Given the description of an element on the screen output the (x, y) to click on. 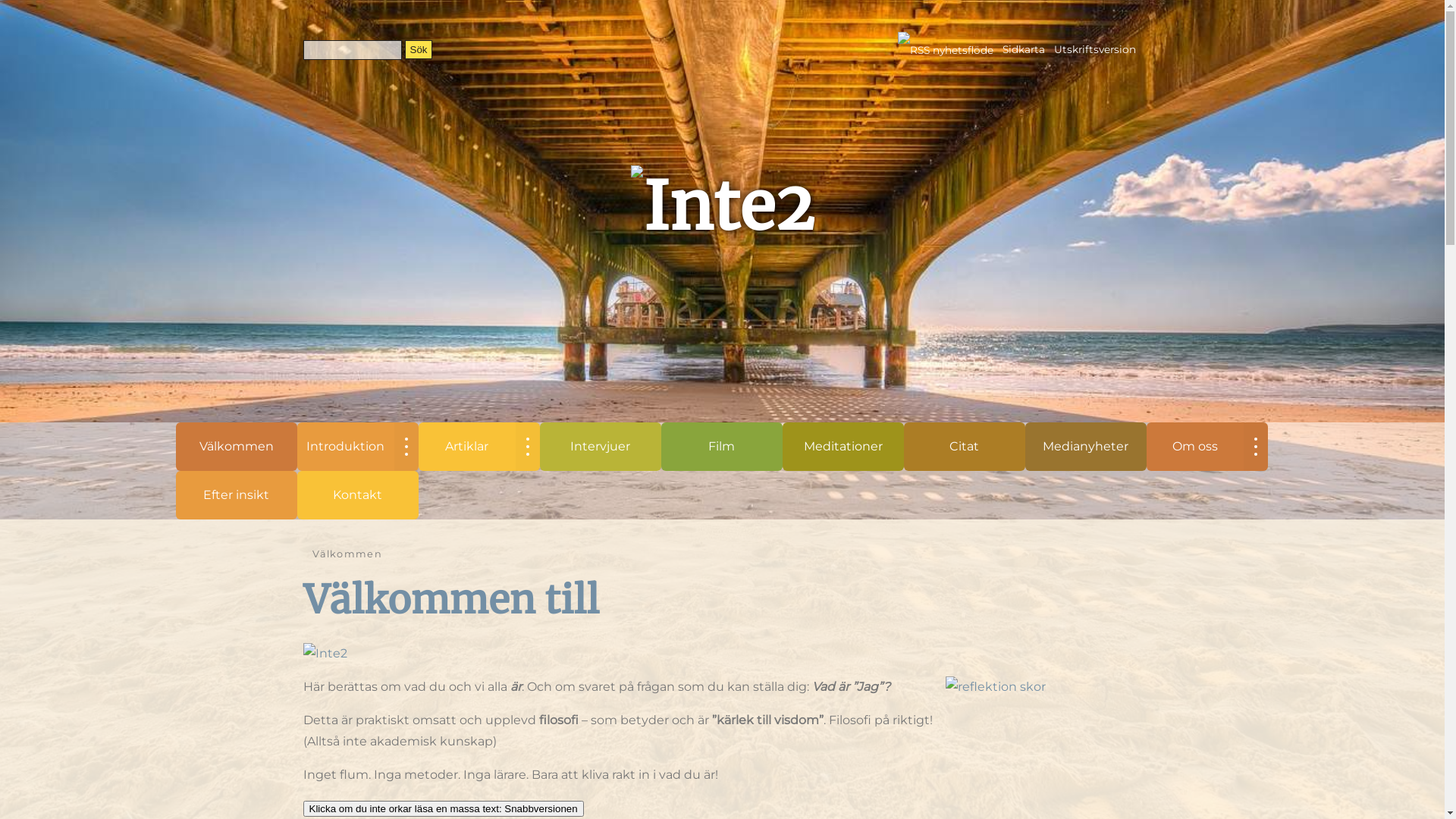
Inte2 Element type: hover (325, 653)
Sidkarta Element type: text (1023, 49)
Intervjuer Element type: text (600, 446)
Meditationer Element type: text (842, 446)
Introduktion Element type: text (345, 446)
Film Element type: text (721, 446)
Medianyheter Element type: text (1085, 446)
Kontakt Element type: text (357, 494)
Om oss Element type: text (1194, 446)
Inte2 Element type: hover (722, 206)
Utskriftsversion Element type: text (1094, 49)
Inte2 Element type: hover (325, 653)
Citat Element type: text (964, 446)
Artiklar Element type: text (466, 446)
Efter insikt Element type: text (236, 494)
